Given the description of an element on the screen output the (x, y) to click on. 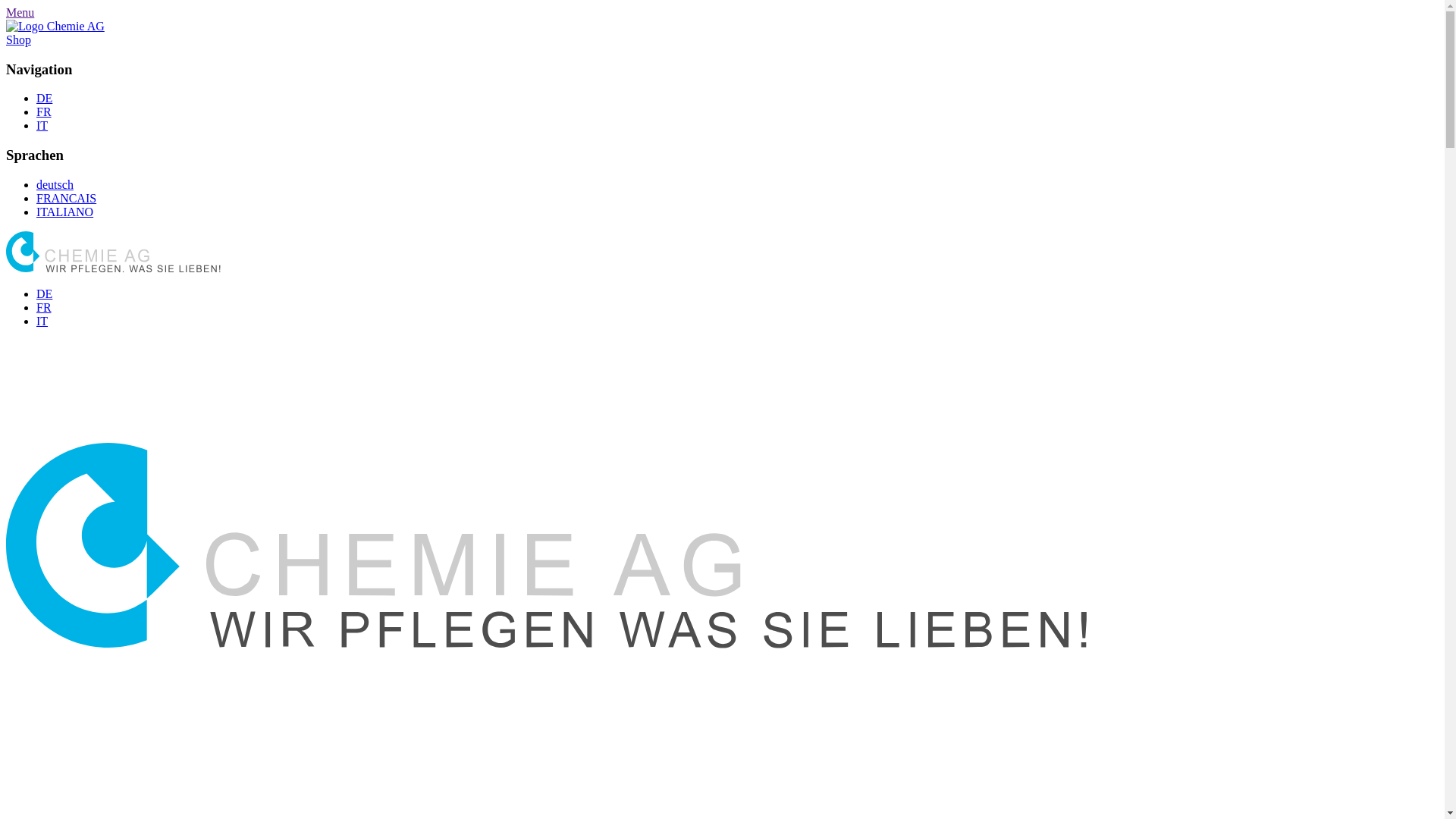
deutsch Element type: text (54, 184)
FRANCAIS Element type: text (66, 197)
Shop Element type: text (18, 39)
DE Element type: text (44, 293)
FR Element type: text (43, 307)
ITALIANO Element type: text (64, 211)
IT Element type: text (41, 320)
DE Element type: text (44, 97)
Menu Element type: text (20, 12)
IT Element type: text (41, 125)
FR Element type: text (43, 111)
